Given the description of an element on the screen output the (x, y) to click on. 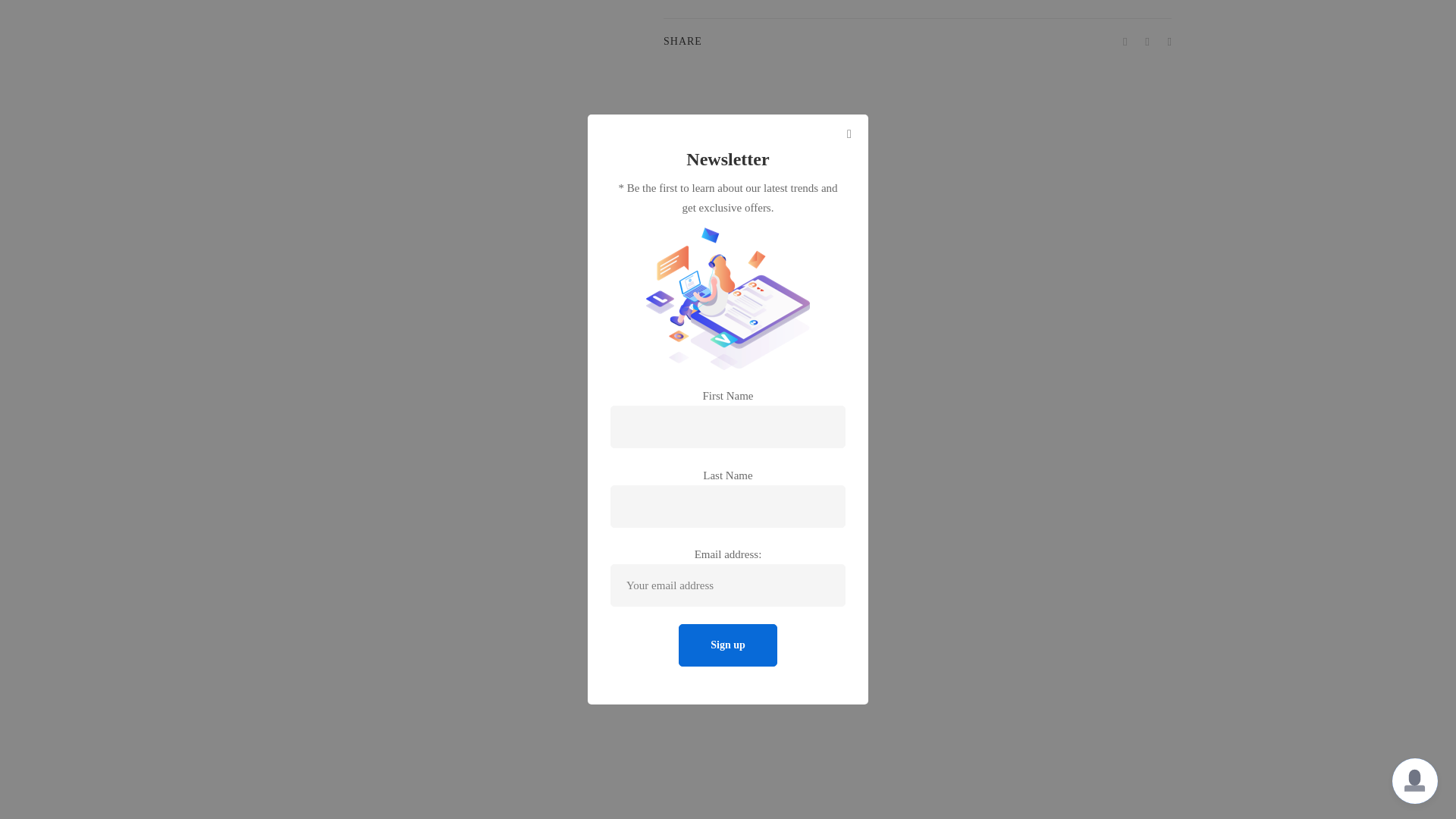
basic (1160, 0)
